Given the description of an element on the screen output the (x, y) to click on. 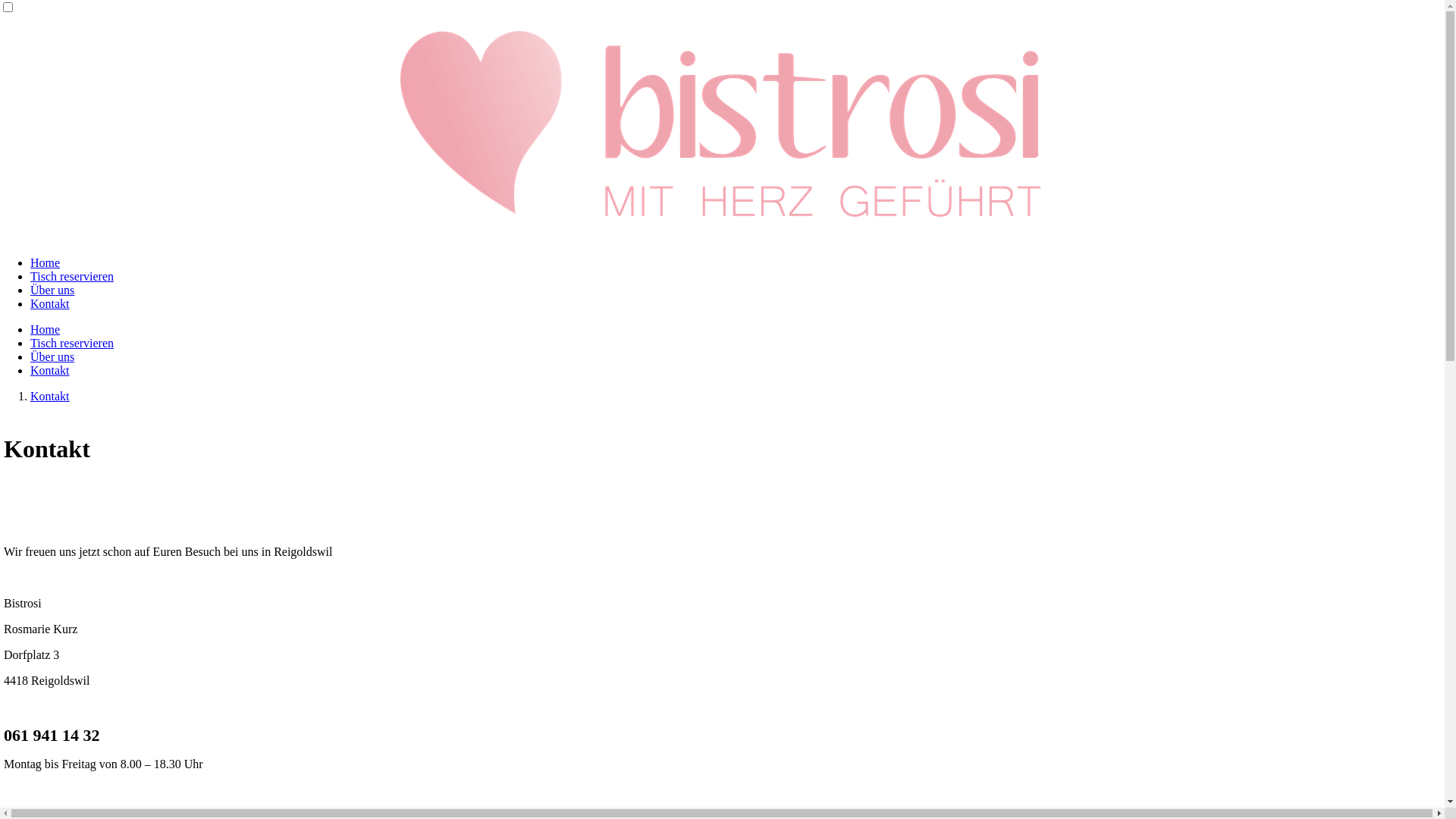
Tisch reservieren Element type: text (71, 342)
Home Element type: text (44, 262)
Kontakt Element type: text (49, 395)
Kontakt Element type: text (49, 303)
Tisch reservieren Element type: text (71, 275)
Home Element type: text (44, 329)
Kontakt Element type: text (49, 370)
